Given the description of an element on the screen output the (x, y) to click on. 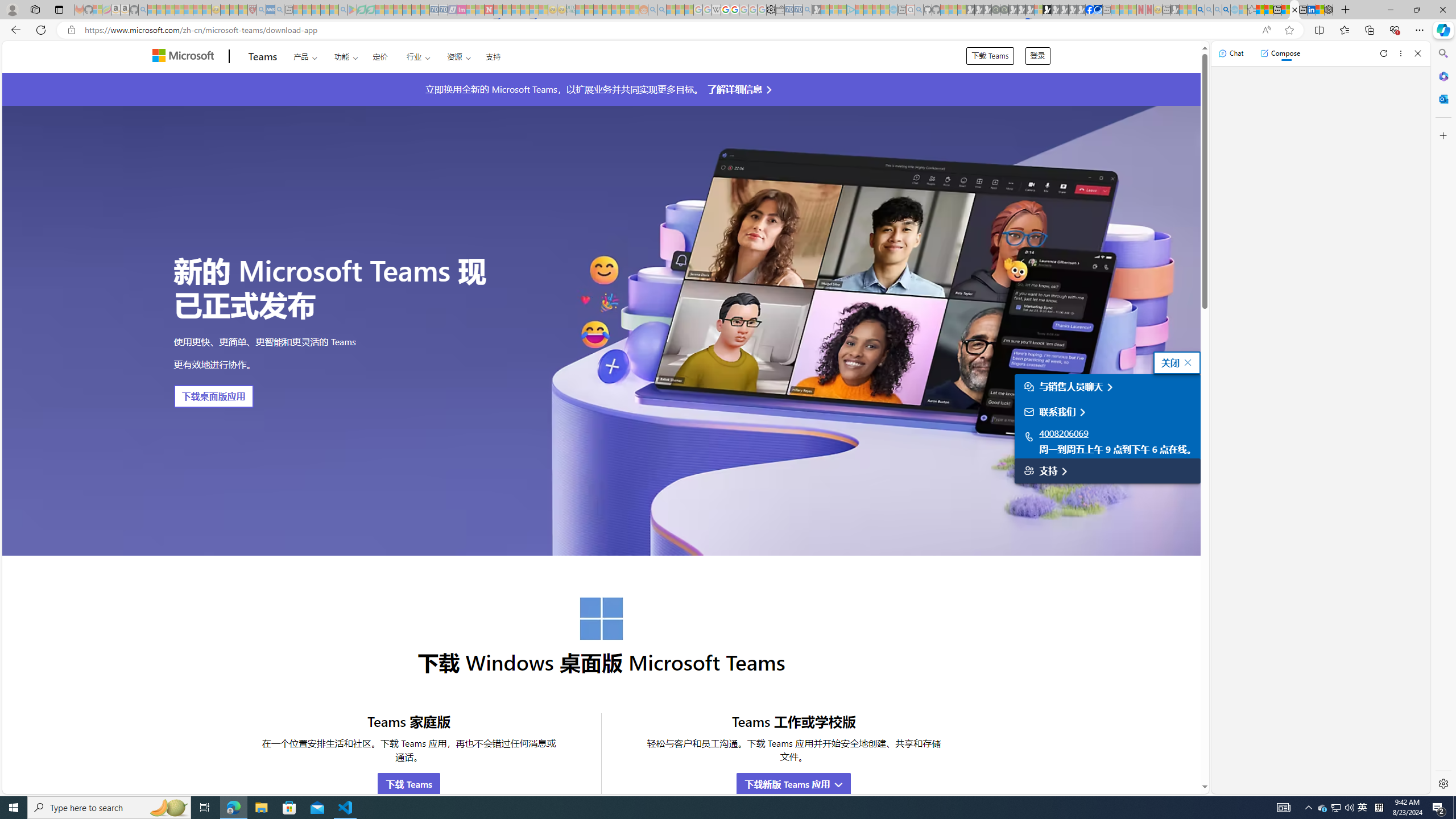
Jobs - lastminute.com Investor Portal - Sleeping (461, 9)
Local - MSN - Sleeping (242, 9)
Future Focus Report 2024 - Sleeping (1004, 9)
Compose (1279, 52)
